Given the description of an element on the screen output the (x, y) to click on. 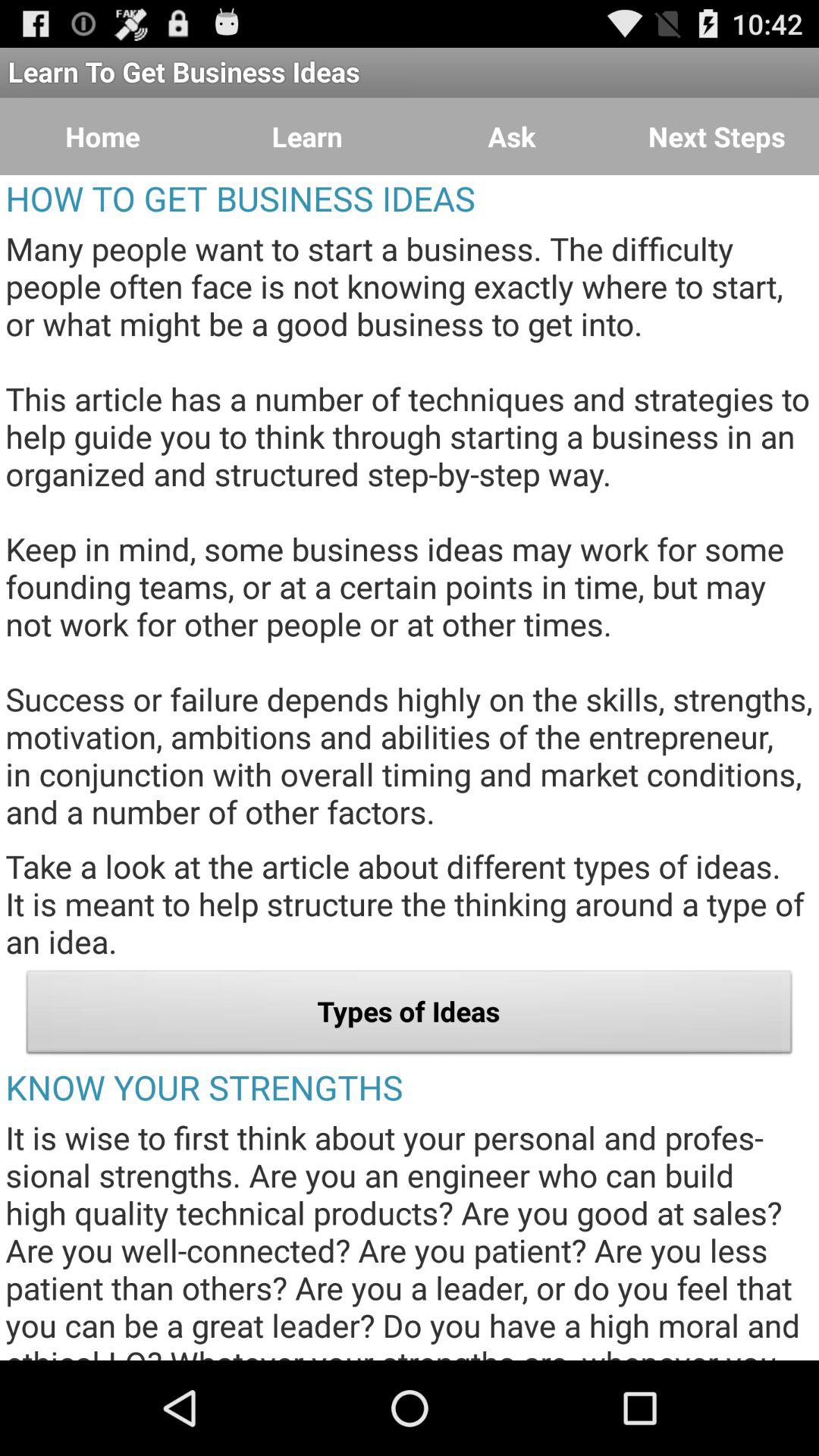
choose the home item (102, 136)
